Given the description of an element on the screen output the (x, y) to click on. 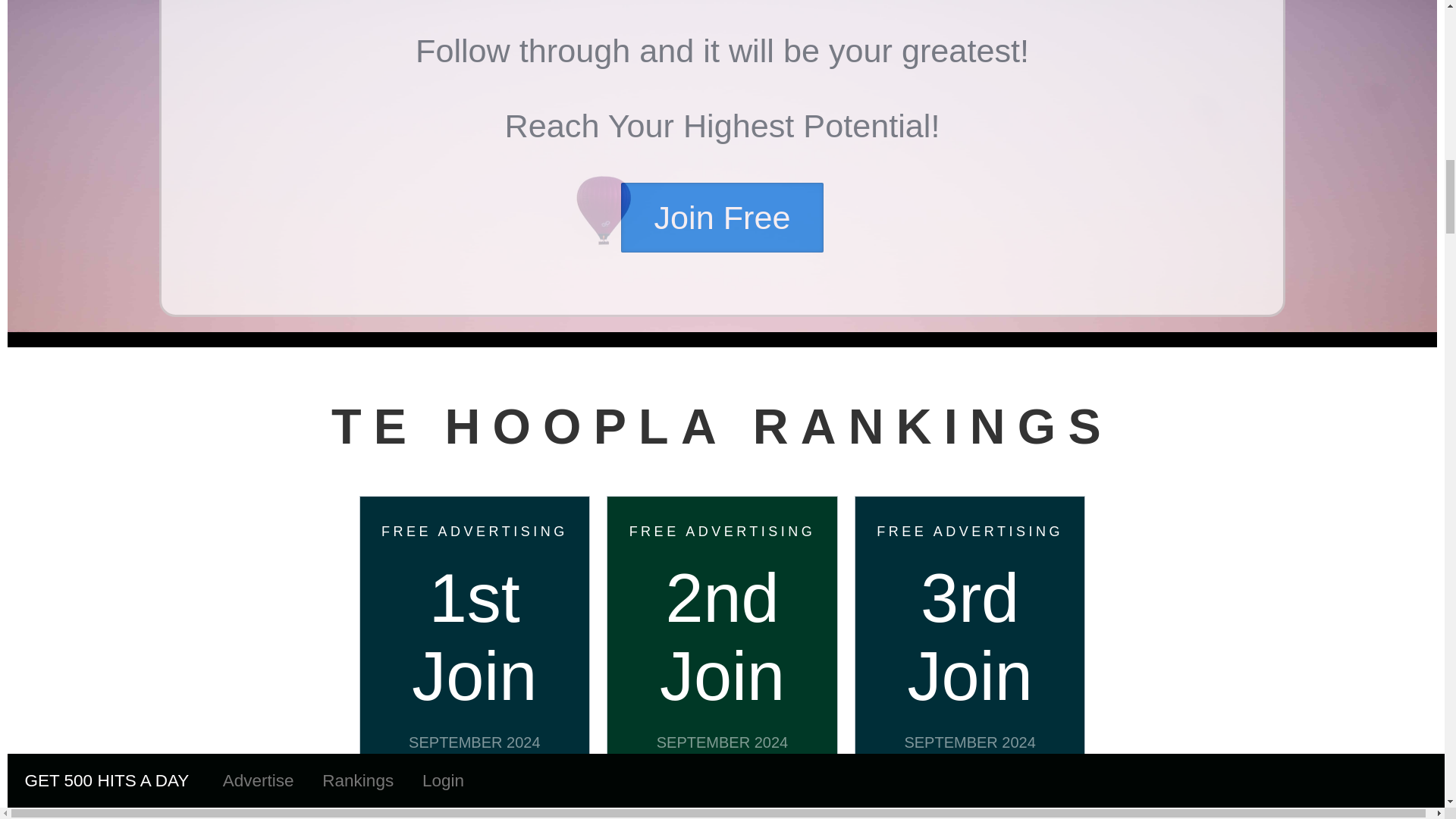
Page Rank Cafe (969, 804)
Join TE Hoopla Free (721, 217)
Page Rank Cafe (969, 804)
Traffic Ad Bar (474, 804)
Traffic Ad Bar (474, 804)
Join Free (721, 217)
Heed You (722, 804)
Heed You (722, 804)
